Given the description of an element on the screen output the (x, y) to click on. 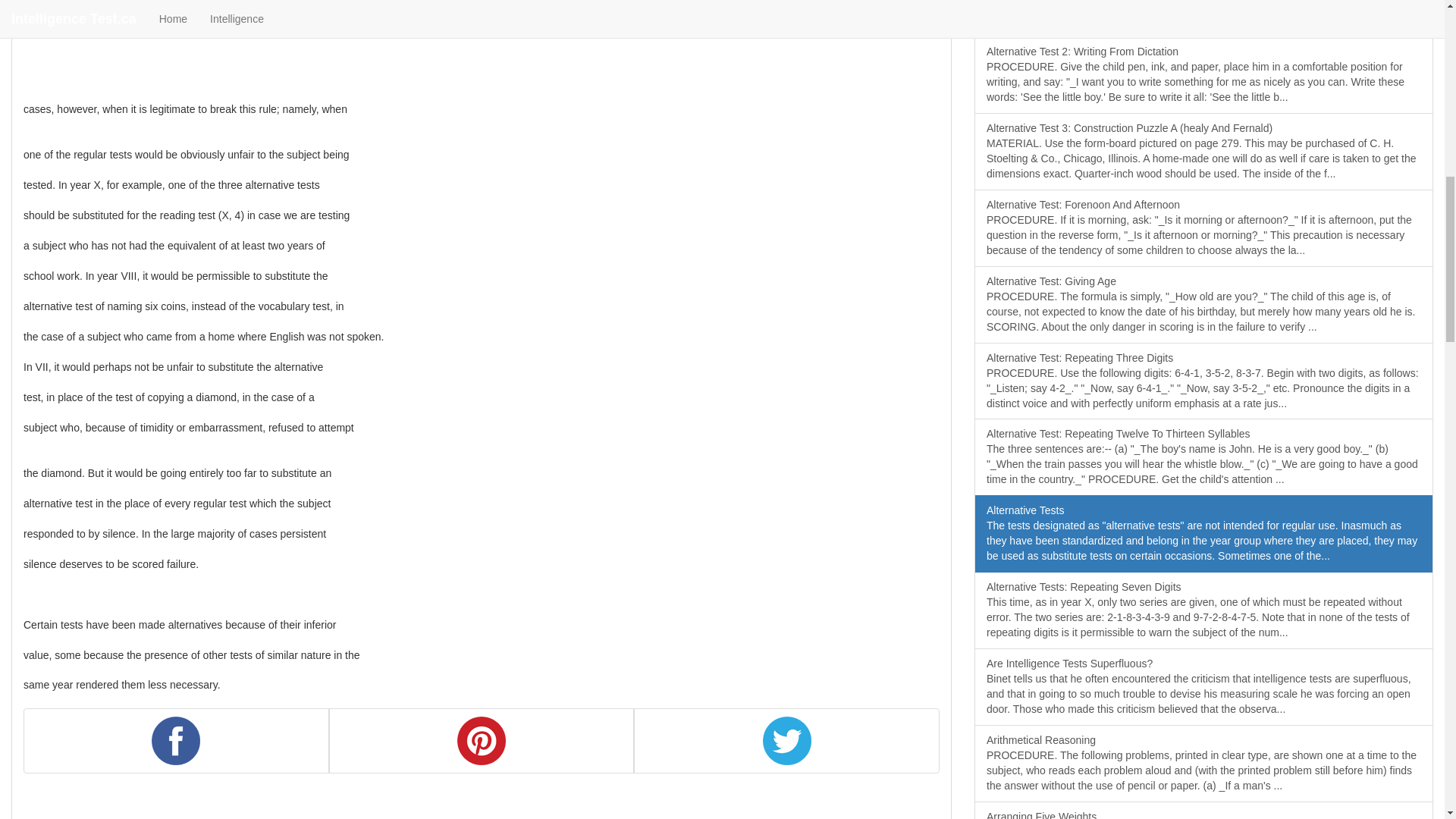
Advertisement (136, 20)
